Given the description of an element on the screen output the (x, y) to click on. 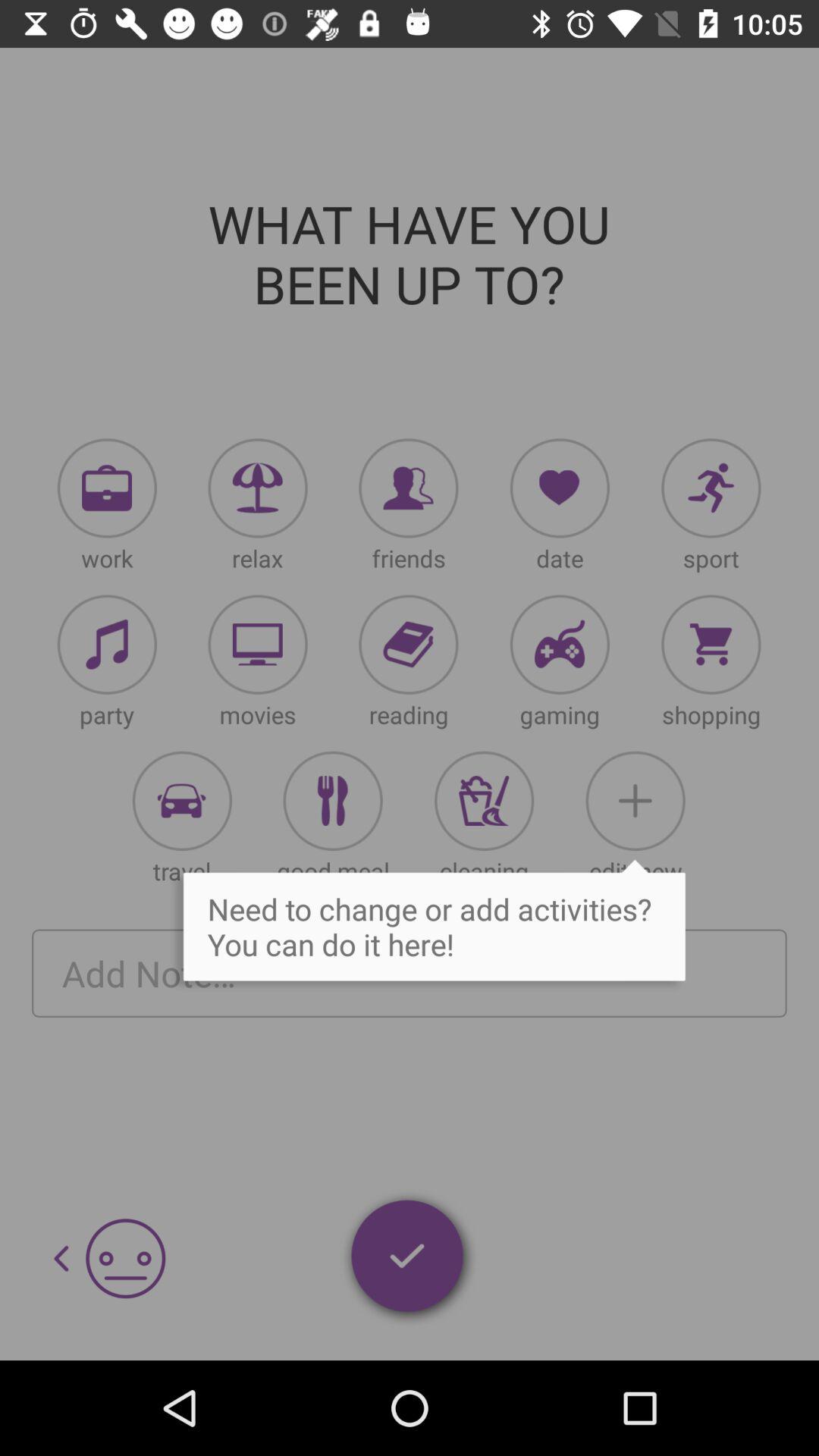
ok/ enter icon (408, 1258)
